Given the description of an element on the screen output the (x, y) to click on. 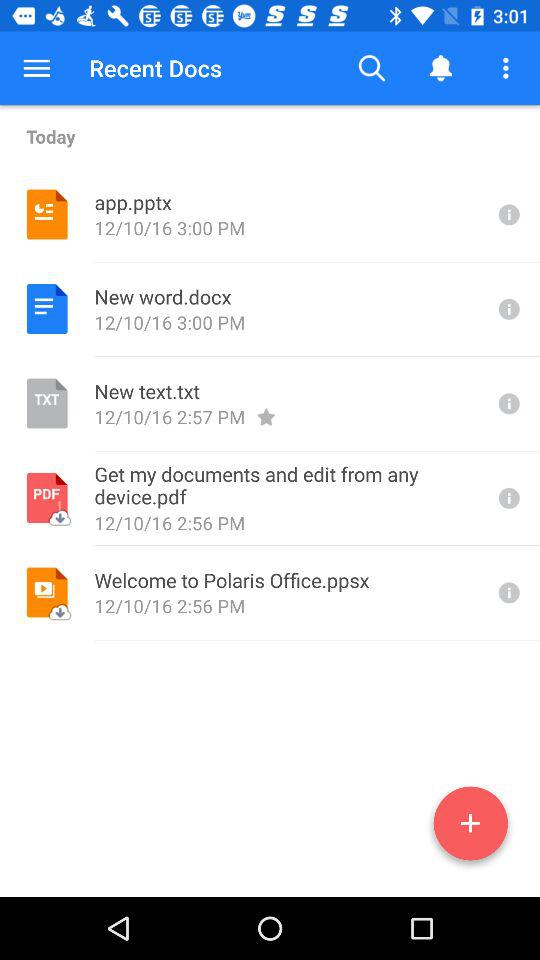
swipe to the recent docs (155, 68)
